Given the description of an element on the screen output the (x, y) to click on. 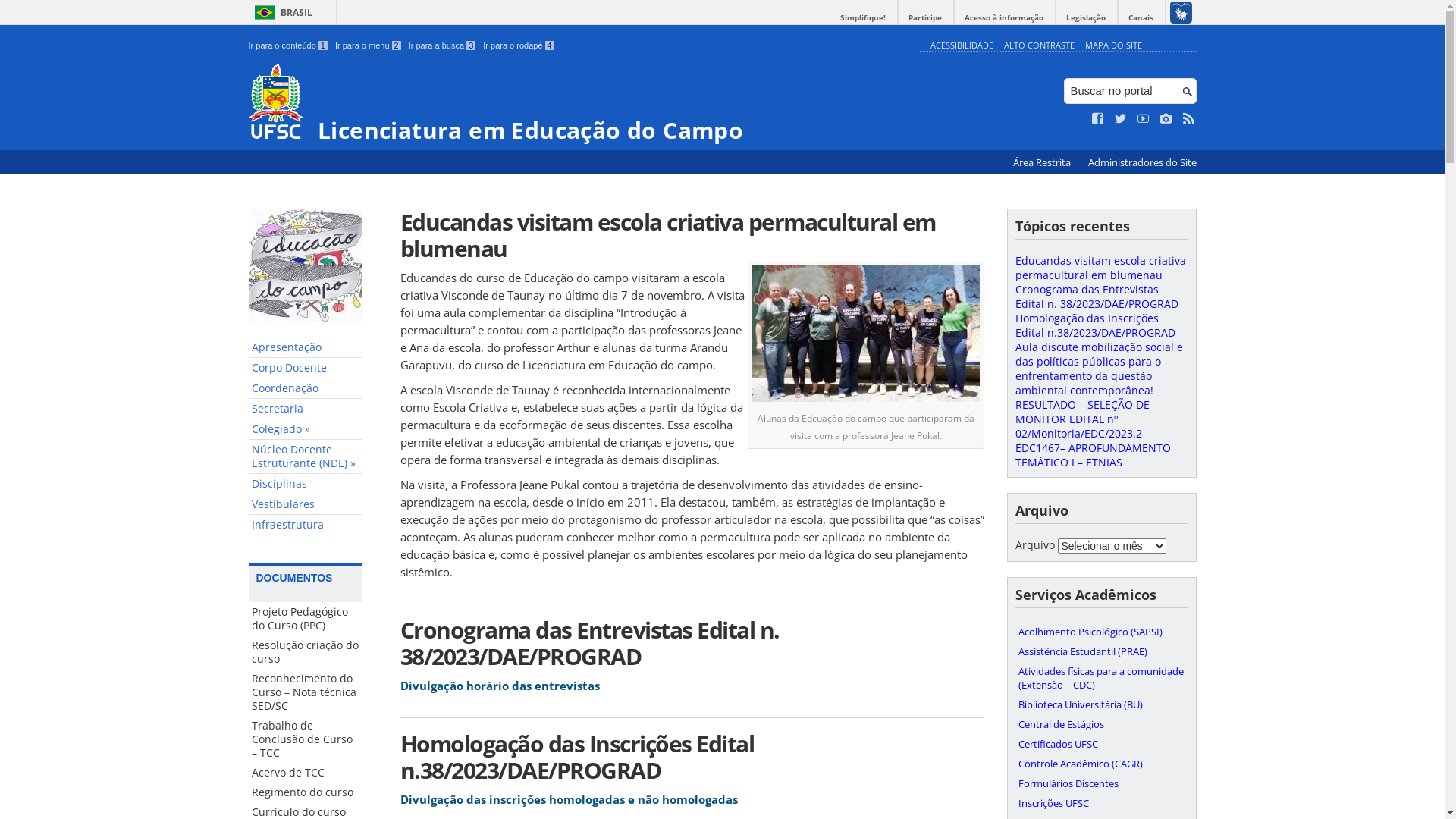
Corpo Docente Element type: text (305, 367)
Ir para o menu 2 Element type: text (368, 45)
Canais Element type: text (1140, 18)
Cronograma das Entrevistas Edital n. 38/2023/DAE/PROGRAD Element type: text (1095, 296)
ALTO CONTRASTE Element type: text (1039, 44)
Educandas visitam escola criativa permacultural em blumenau Element type: text (1099, 267)
Educandas visitam escola criativa permacultural em blumenau Element type: text (692, 234)
Regimento do curso Element type: text (305, 792)
Participe Element type: text (924, 18)
Simplifique! Element type: text (862, 18)
ACESSIBILIDADE Element type: text (960, 44)
Cronograma das Entrevistas Edital n. 38/2023/DAE/PROGRAD Element type: text (692, 642)
BRASIL Element type: text (280, 12)
MAPA DO SITE Element type: text (1112, 44)
Ir para a busca 3 Element type: text (442, 45)
Veja no Instagram Element type: hover (1166, 118)
Infraestrutura Element type: text (305, 524)
Curta no Facebook Element type: hover (1098, 118)
Siga no Twitter Element type: hover (1120, 118)
Vestibulares Element type: text (305, 504)
Secretaria Element type: text (305, 408)
Acervo de TCC Element type: text (305, 772)
Disciplinas Element type: text (305, 483)
Certificados UFSC Element type: text (1100, 743)
Administradores do Site Element type: text (1141, 162)
